Given the description of an element on the screen output the (x, y) to click on. 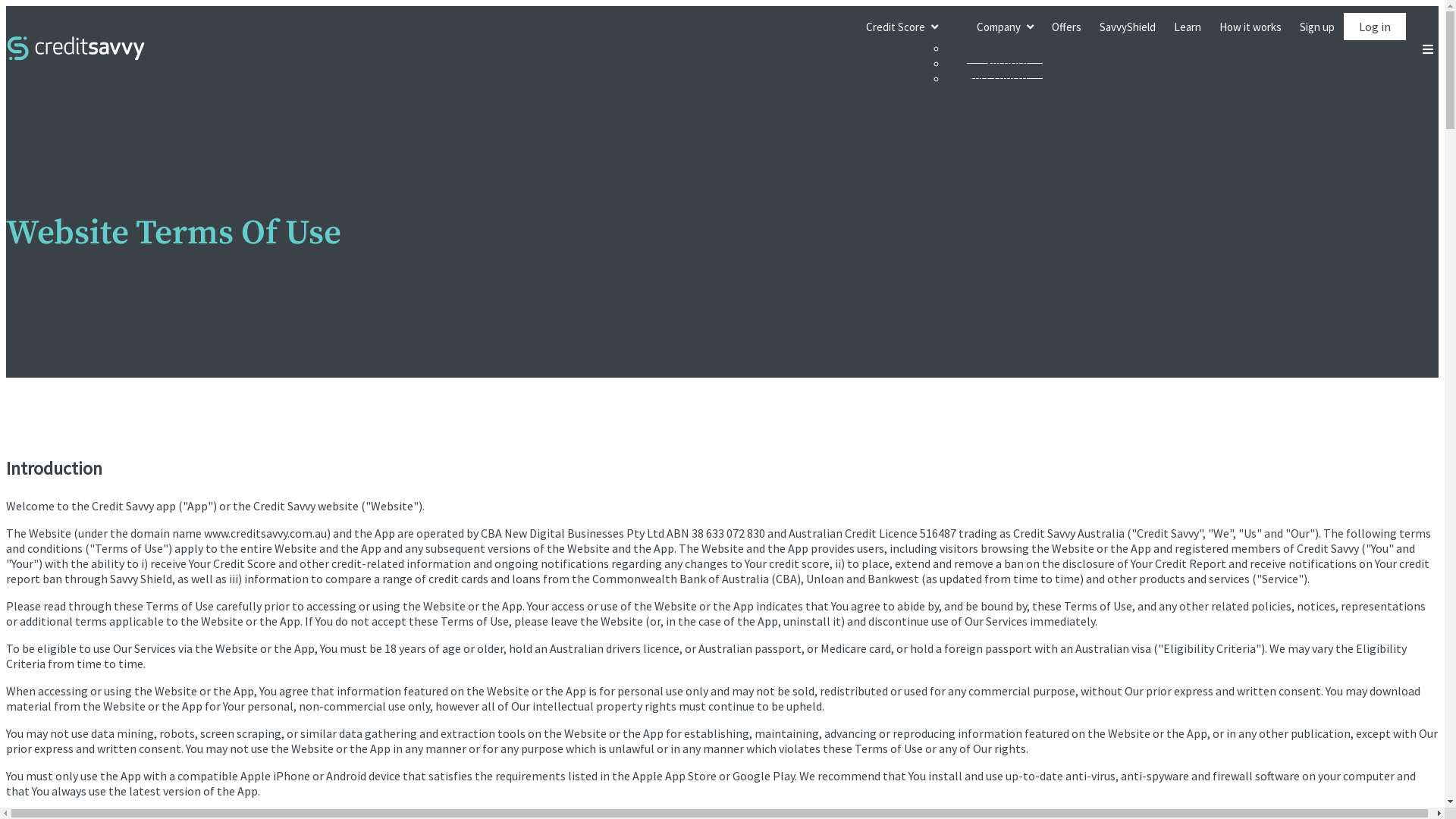
Offers Element type: text (1066, 26)
Press centre Element type: text (994, 77)
SavvyShield Element type: text (1127, 26)
About us Element type: text (1004, 47)
How it works Element type: text (1250, 26)
Log in Element type: text (1374, 26)
Sign up Element type: text (1316, 26)
Credit Score Element type: text (901, 26)
Company Element type: text (994, 26)
Security Element type: text (1006, 62)
Learn Element type: text (1187, 26)
